Given the description of an element on the screen output the (x, y) to click on. 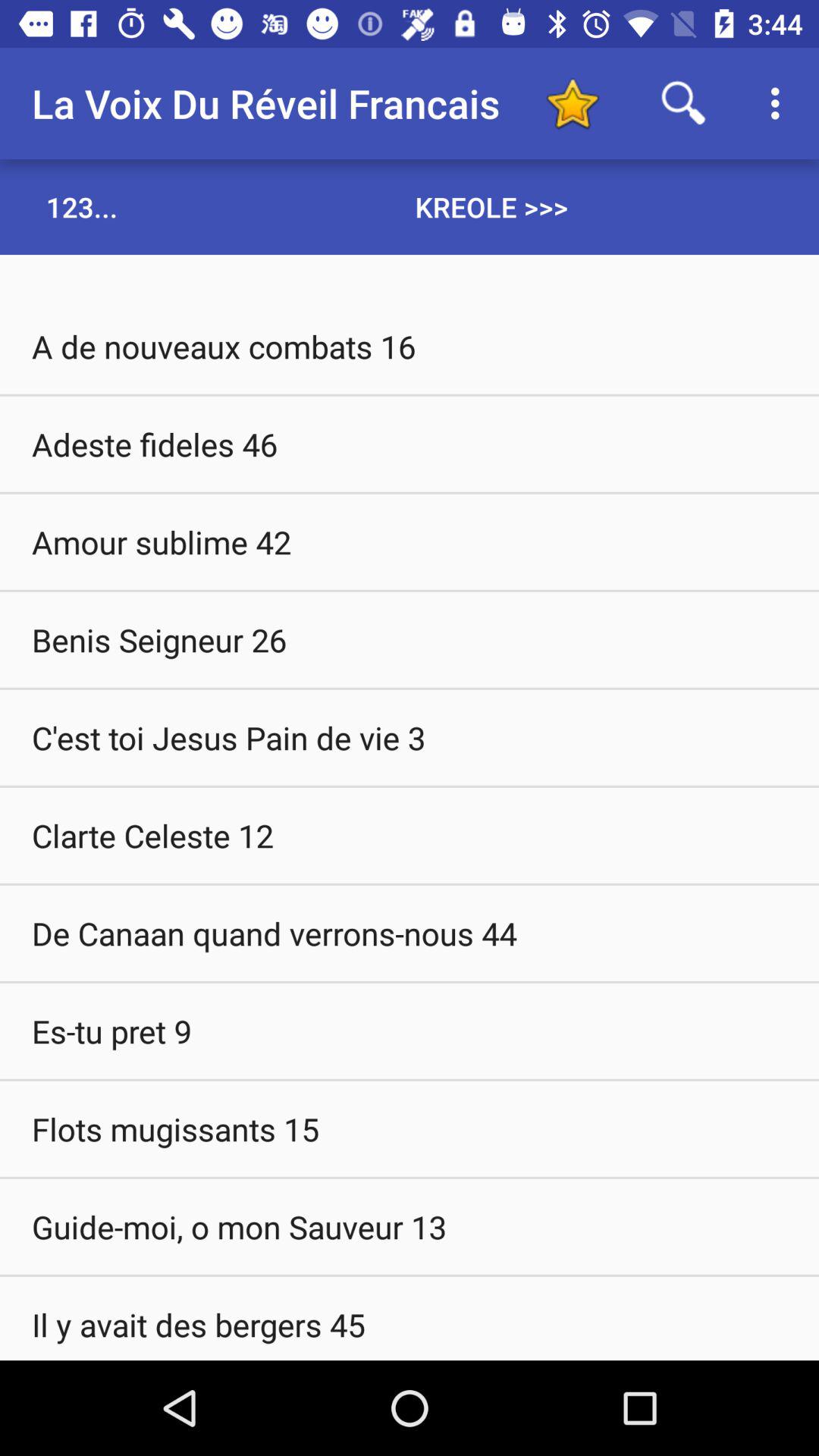
add current page to favorites (571, 103)
